Given the description of an element on the screen output the (x, y) to click on. 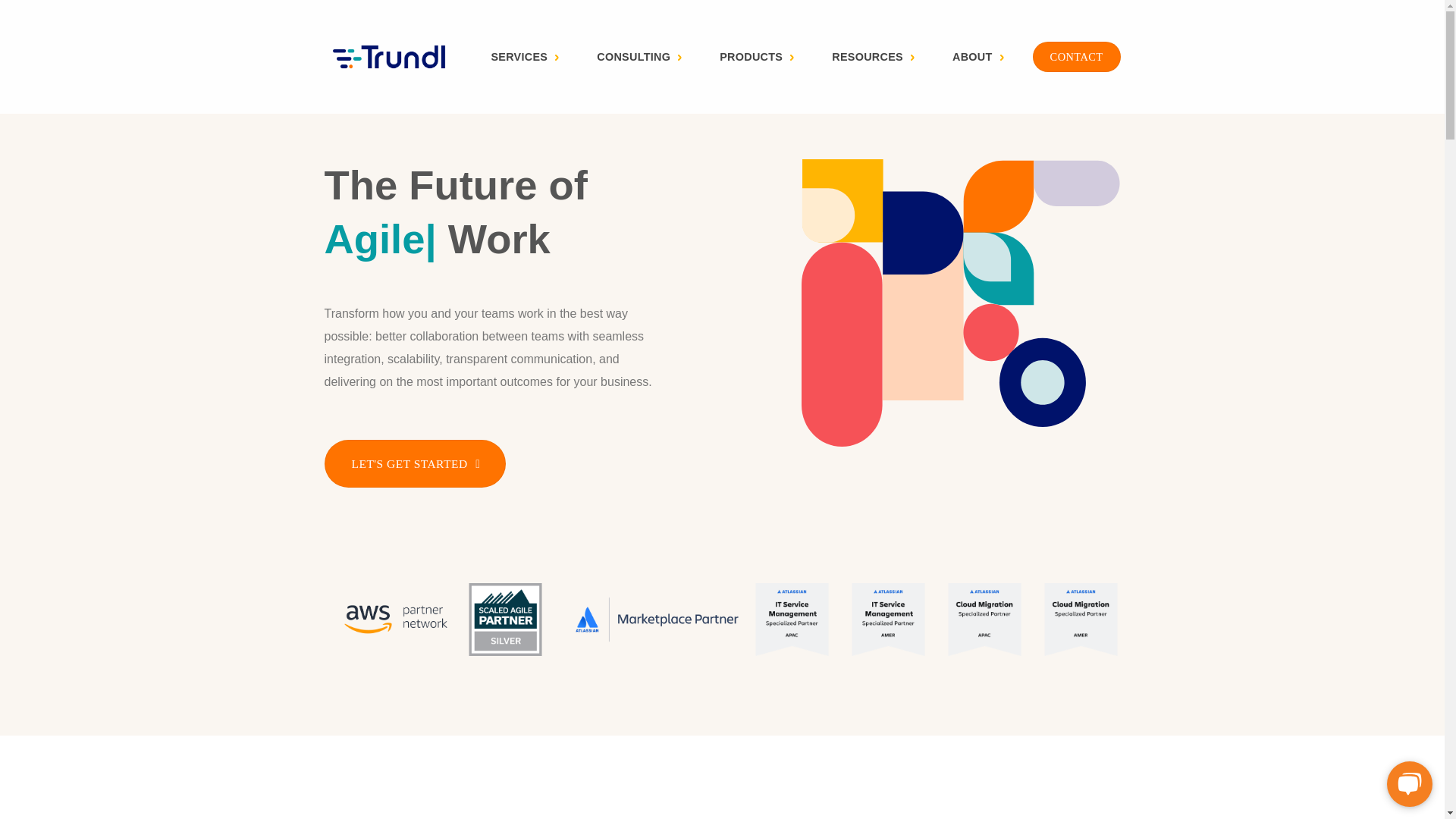
Trundl - An Atlassian Platinum Solution Partner (388, 56)
PRODUCTS (756, 56)
SERVICES (524, 56)
RESOURCES (872, 56)
LET'S GET STARTED (414, 463)
CONTACT (1076, 56)
CONSULTING (638, 56)
ABOUT (978, 56)
